Given the description of an element on the screen output the (x, y) to click on. 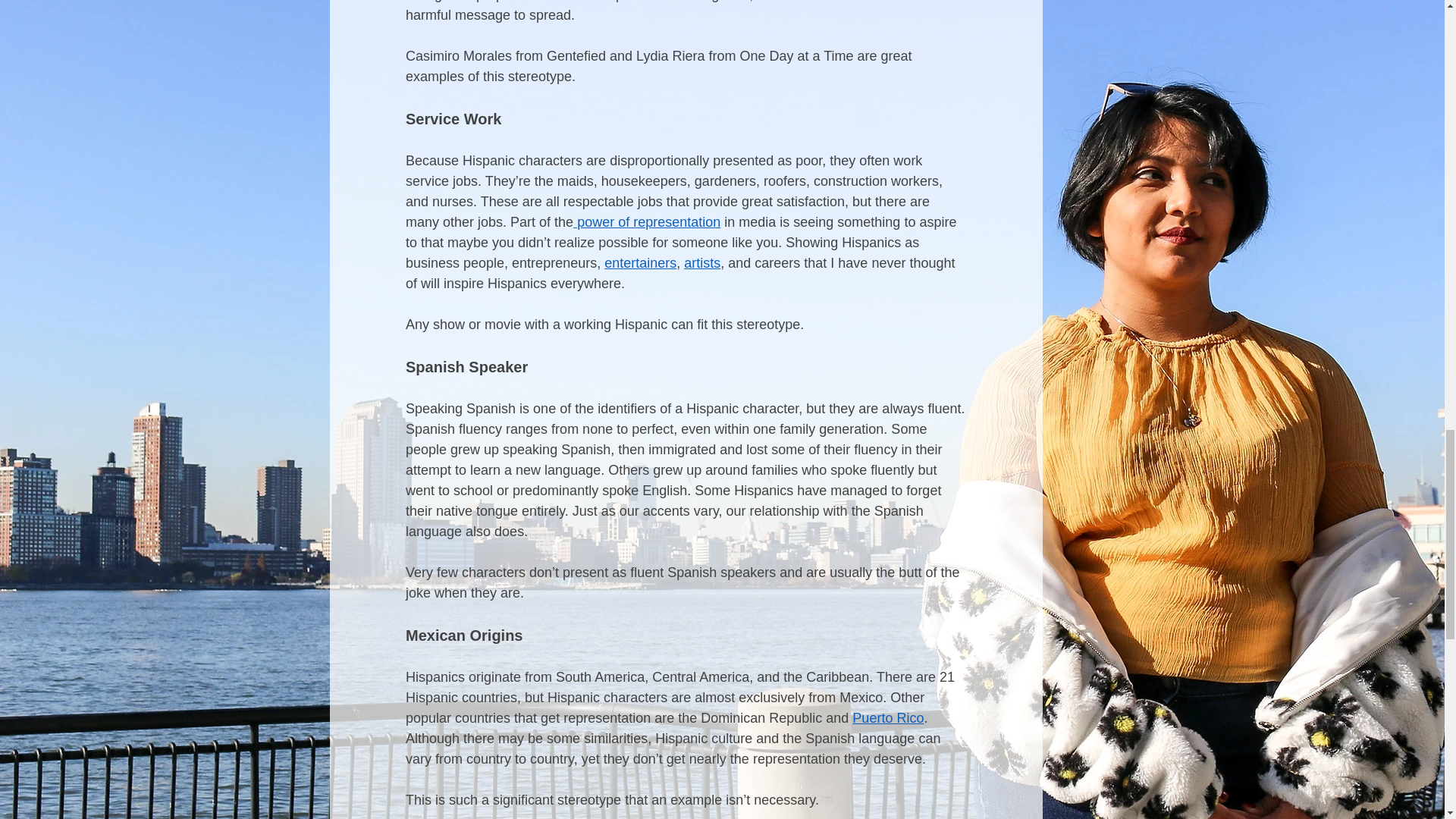
Puerto Rico (887, 717)
entertainers (640, 263)
artists (702, 263)
 power of representation (646, 222)
